Given the description of an element on the screen output the (x, y) to click on. 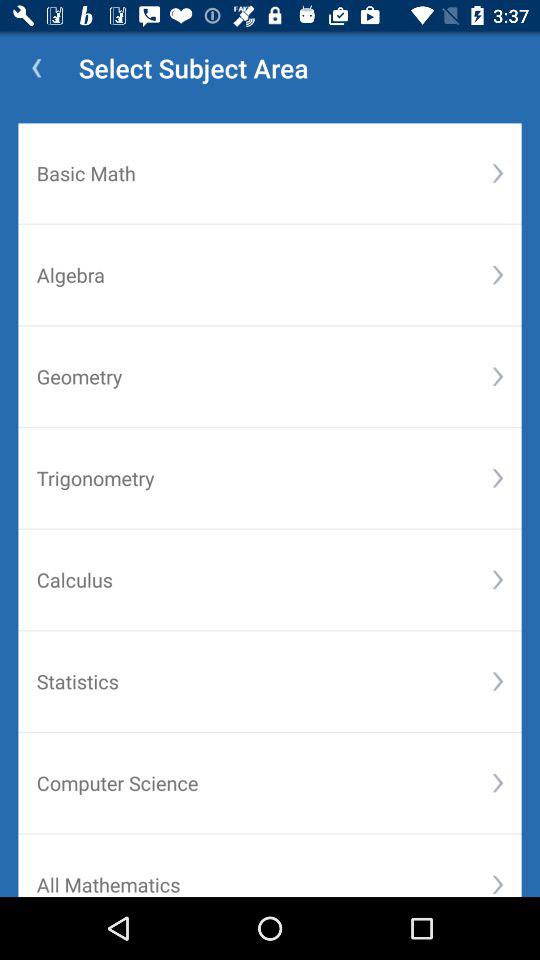
turn on the calculus (264, 579)
